Given the description of an element on the screen output the (x, y) to click on. 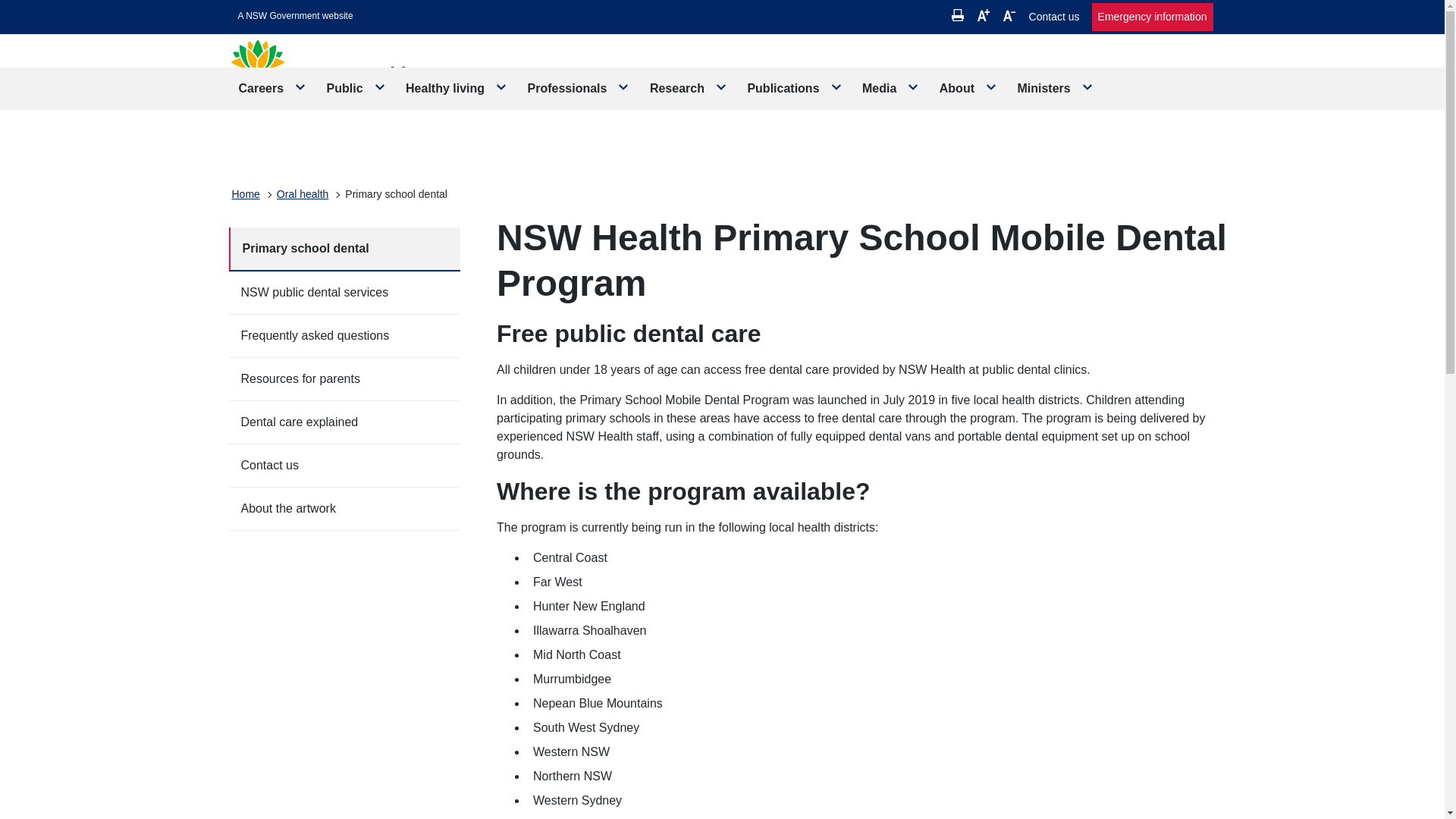
Go to homepage (347, 79)
Careers (272, 88)
Increase Font Size (983, 15)
Skip to content (296, 15)
Decrease Font Size (1008, 15)
Home (245, 193)
Emergency information (1152, 17)
Contact us (1054, 17)
Public (356, 88)
Print Page (957, 15)
